Given the description of an element on the screen output the (x, y) to click on. 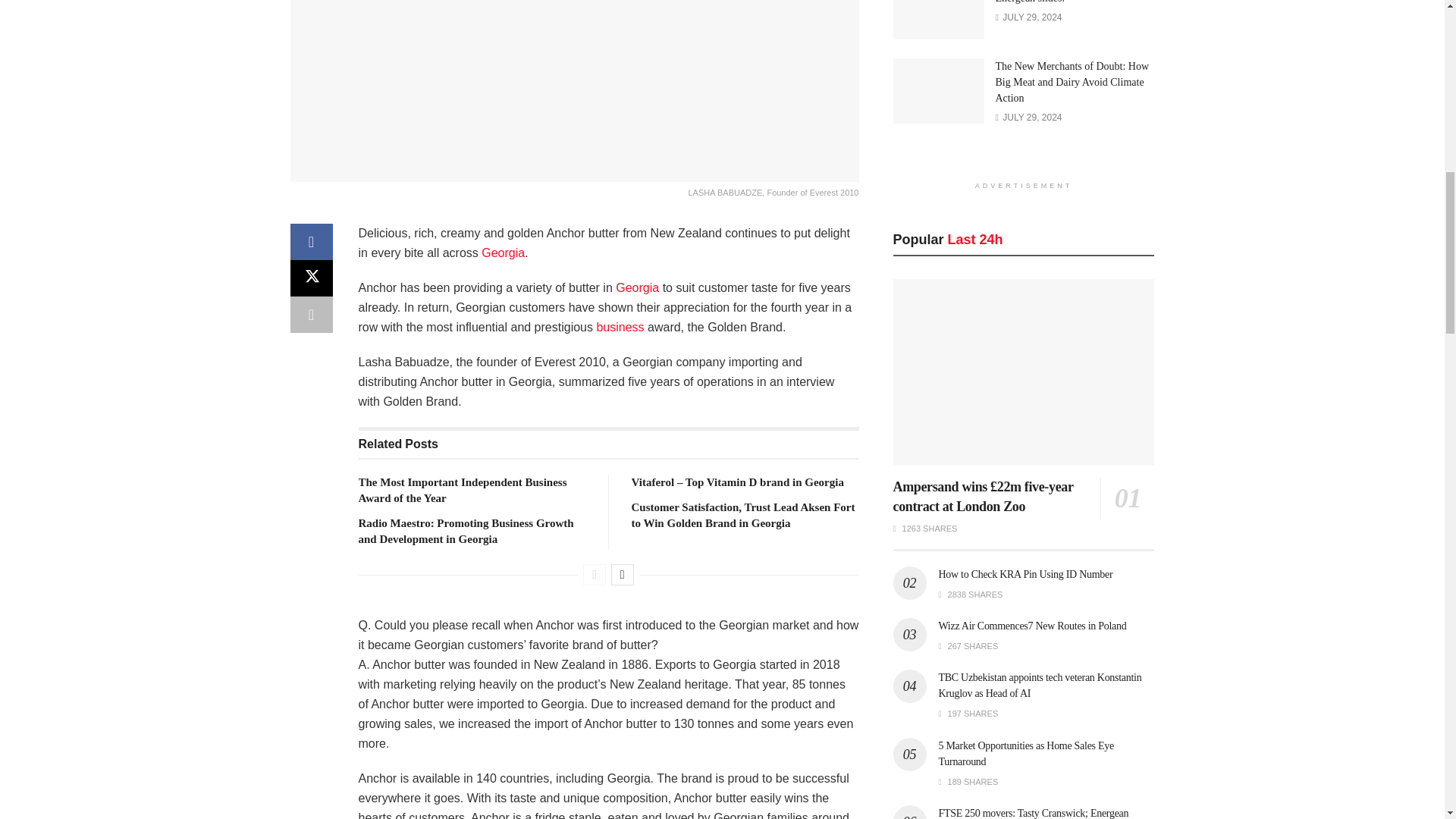
Previous (594, 574)
Georgia (637, 287)
Next (622, 574)
Business (619, 327)
Georgia (502, 252)
